Given the description of an element on the screen output the (x, y) to click on. 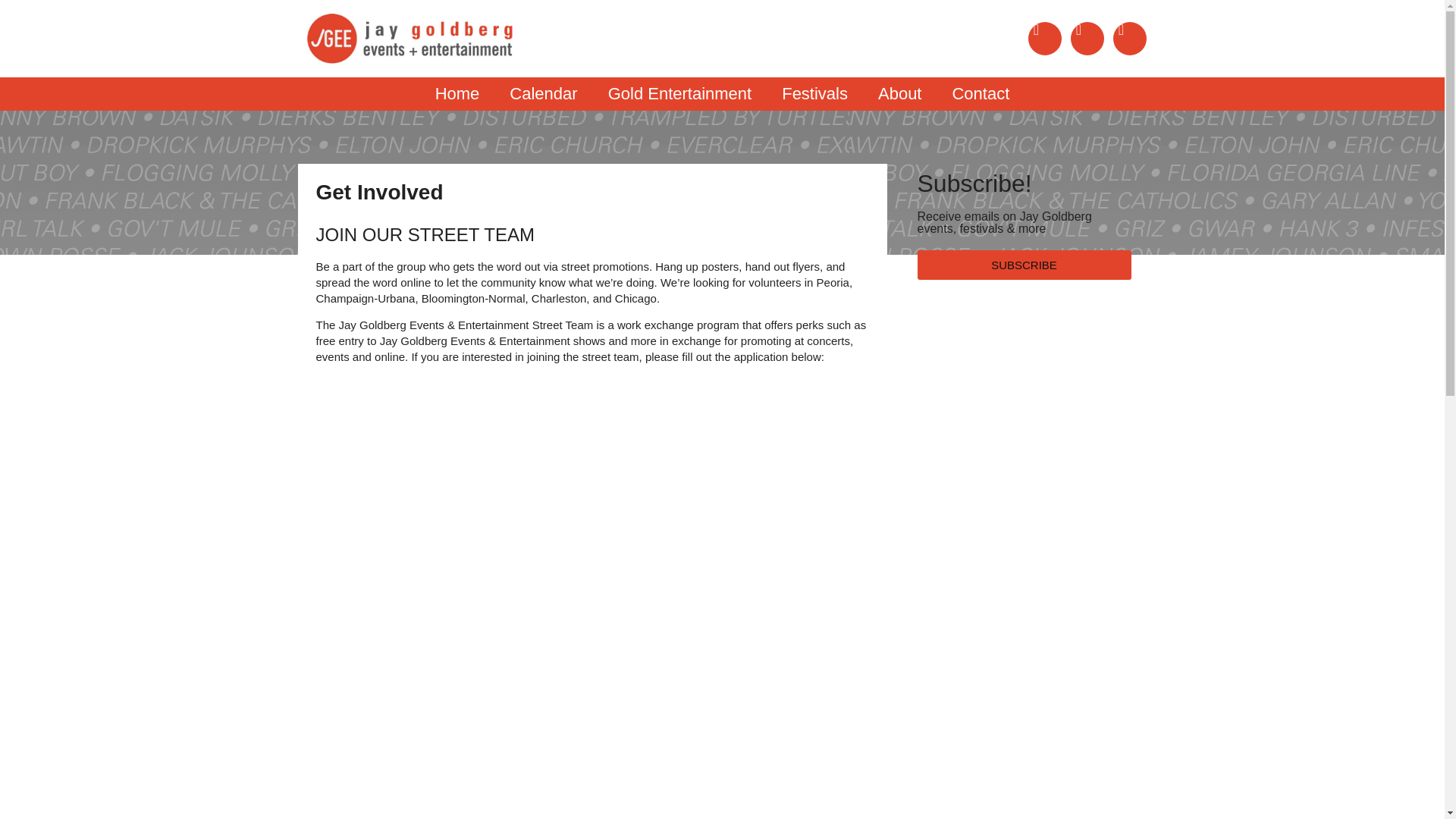
Calendar (543, 93)
Home (457, 93)
About (900, 93)
Contact (980, 93)
Gold Entertainment (679, 93)
Festivals (815, 93)
SUBSCRIBE (1024, 265)
